Given the description of an element on the screen output the (x, y) to click on. 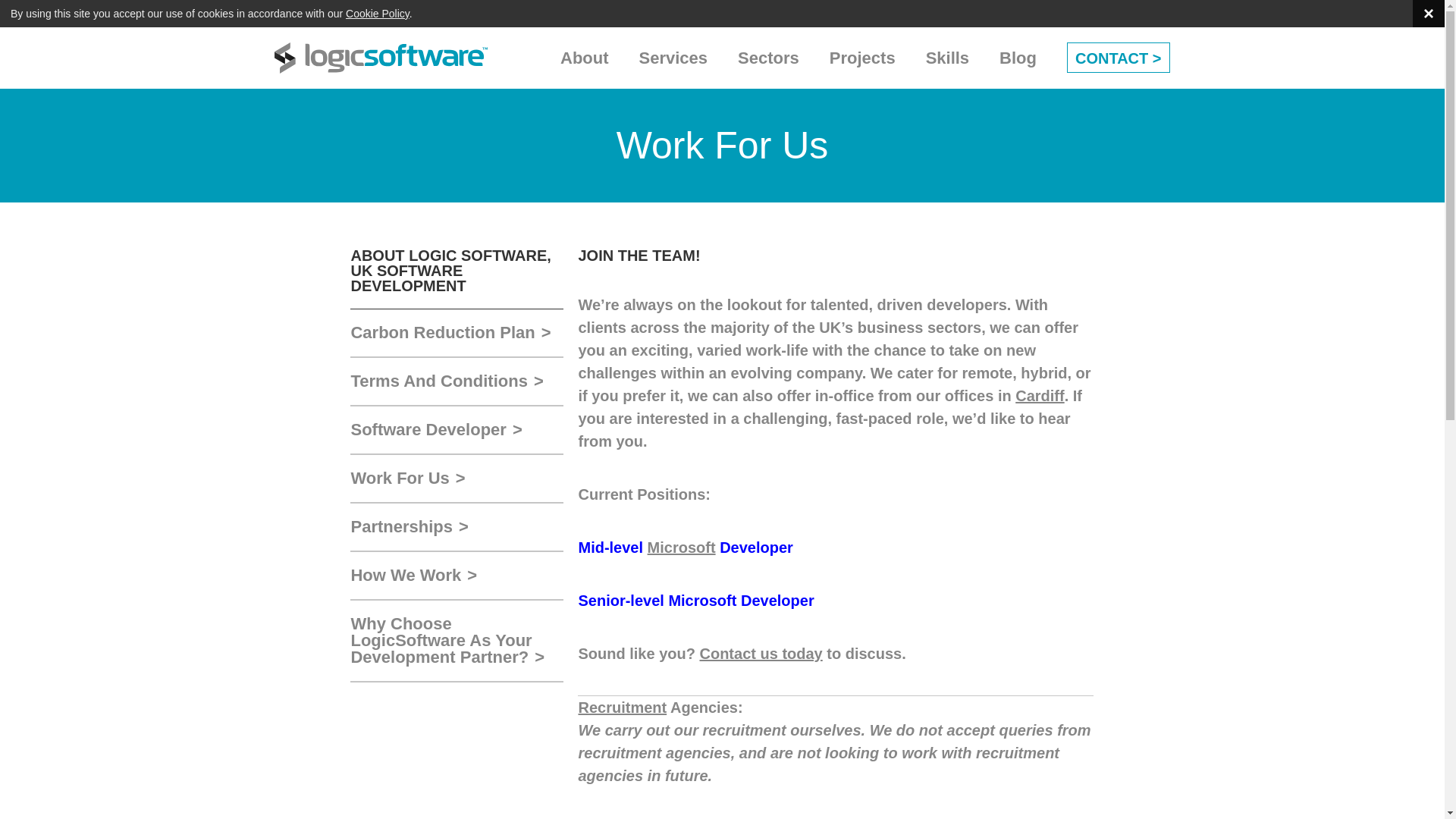
Projects (862, 57)
Skills (947, 57)
Sectors (768, 57)
About (584, 57)
Cookie Policy (377, 13)
Services (673, 57)
